Given the description of an element on the screen output the (x, y) to click on. 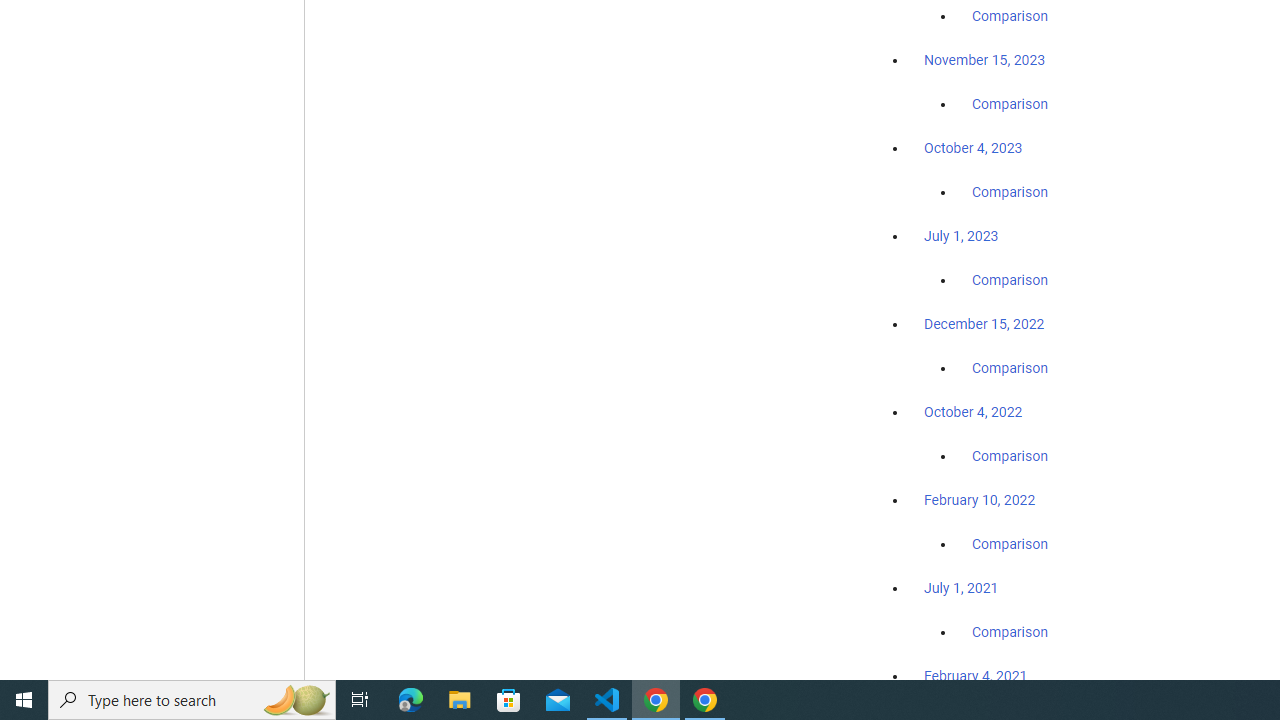
October 4, 2023 (973, 148)
December 15, 2022 (984, 323)
July 1, 2023 (961, 236)
October 4, 2022 (973, 412)
February 10, 2022 (979, 500)
February 4, 2021 (975, 675)
July 1, 2021 (961, 587)
Comparison (1009, 631)
November 15, 2023 (984, 60)
